Given the description of an element on the screen output the (x, y) to click on. 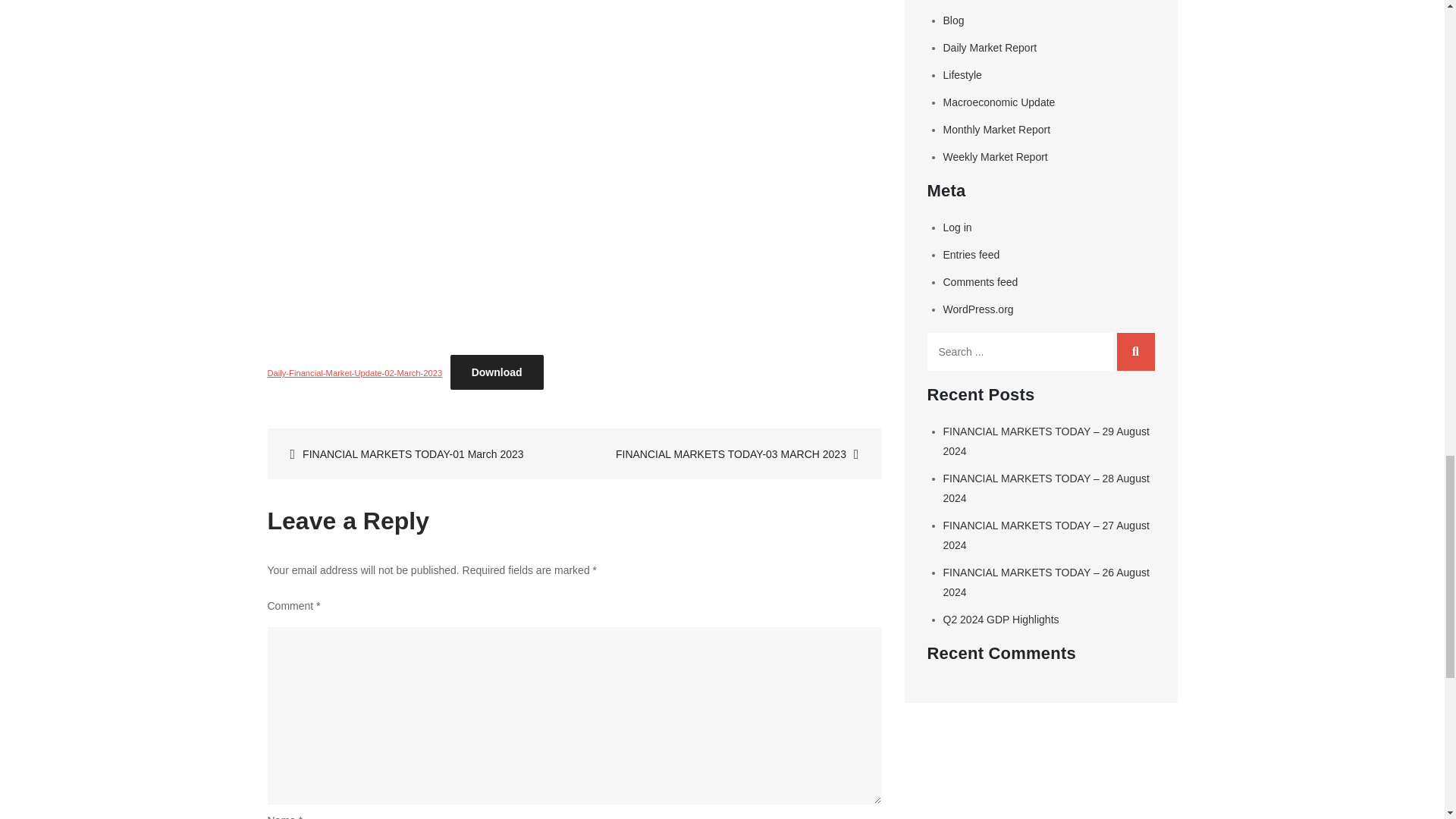
Download (496, 371)
FINANCIAL MARKETS TODAY-01 March 2023 (421, 453)
Daily-Financial-Market-Update-02-March-2023 (354, 372)
FINANCIAL MARKETS TODAY-03 MARCH 2023 (725, 453)
Search for: (1019, 351)
